Given the description of an element on the screen output the (x, y) to click on. 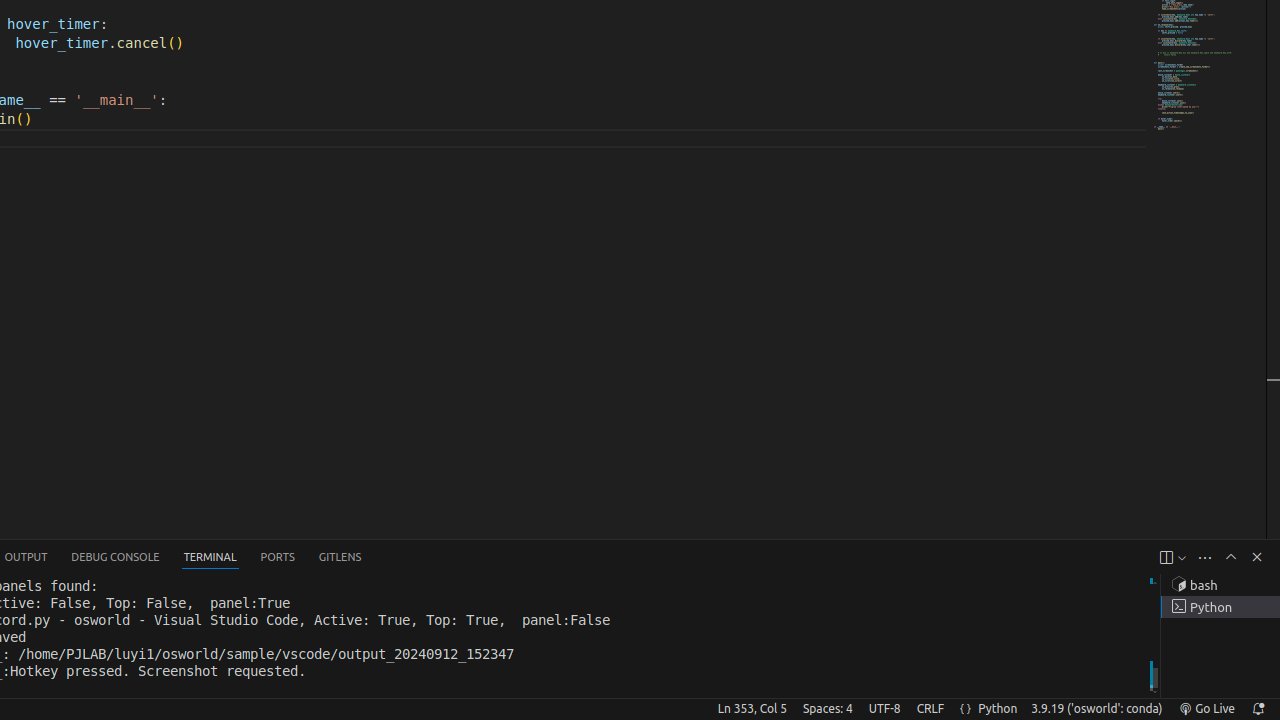
Launch Profile... Element type: push-button (1182, 557)
Terminal 1 bash Element type: list-item (1220, 585)
UTF-8 Element type: push-button (884, 709)
CRLF Element type: push-button (930, 709)
Notifications Element type: push-button (1258, 709)
